Given the description of an element on the screen output the (x, y) to click on. 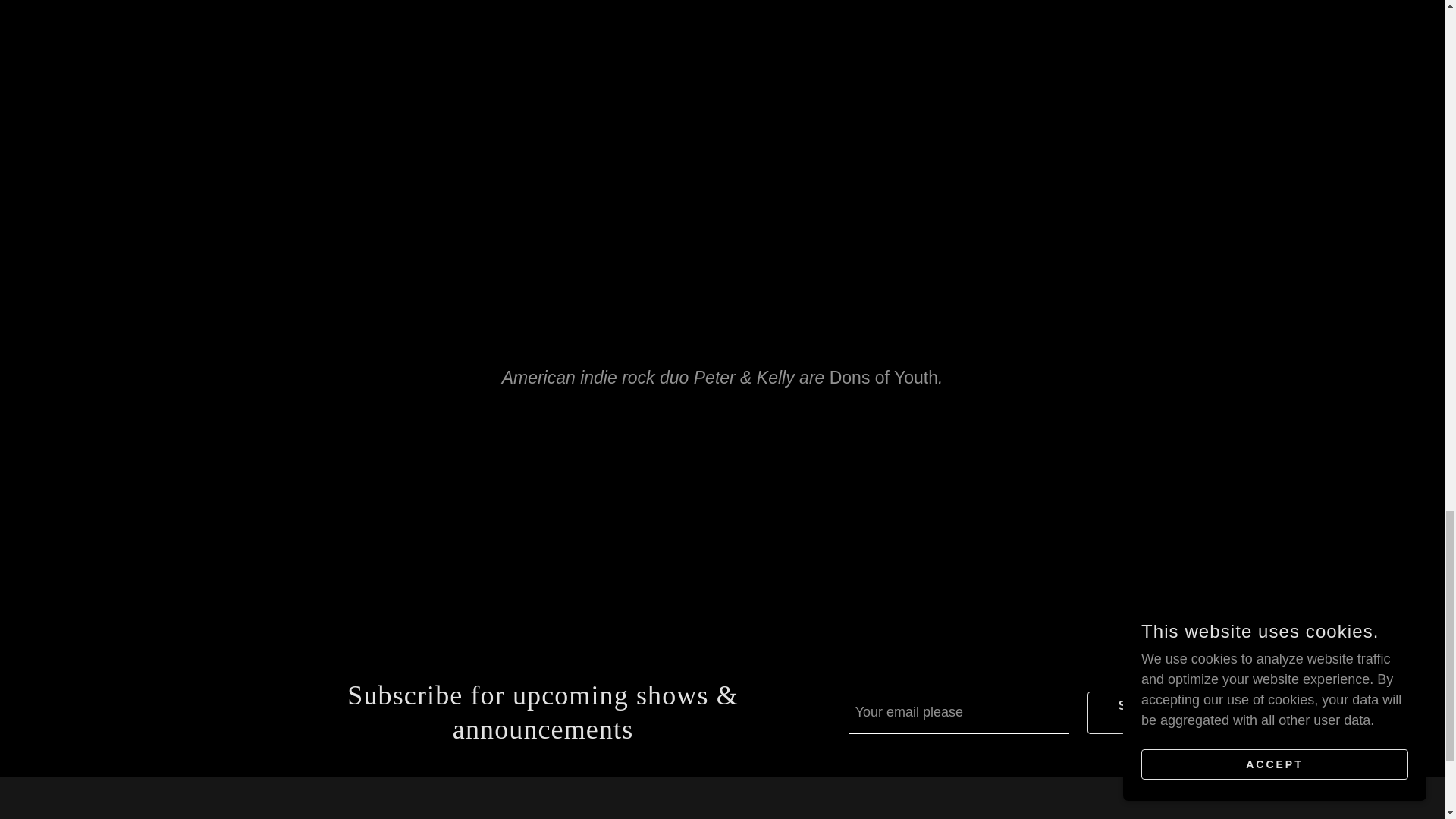
SIGN UP (1138, 712)
CONTACT (722, 813)
